Given the description of an element on the screen output the (x, y) to click on. 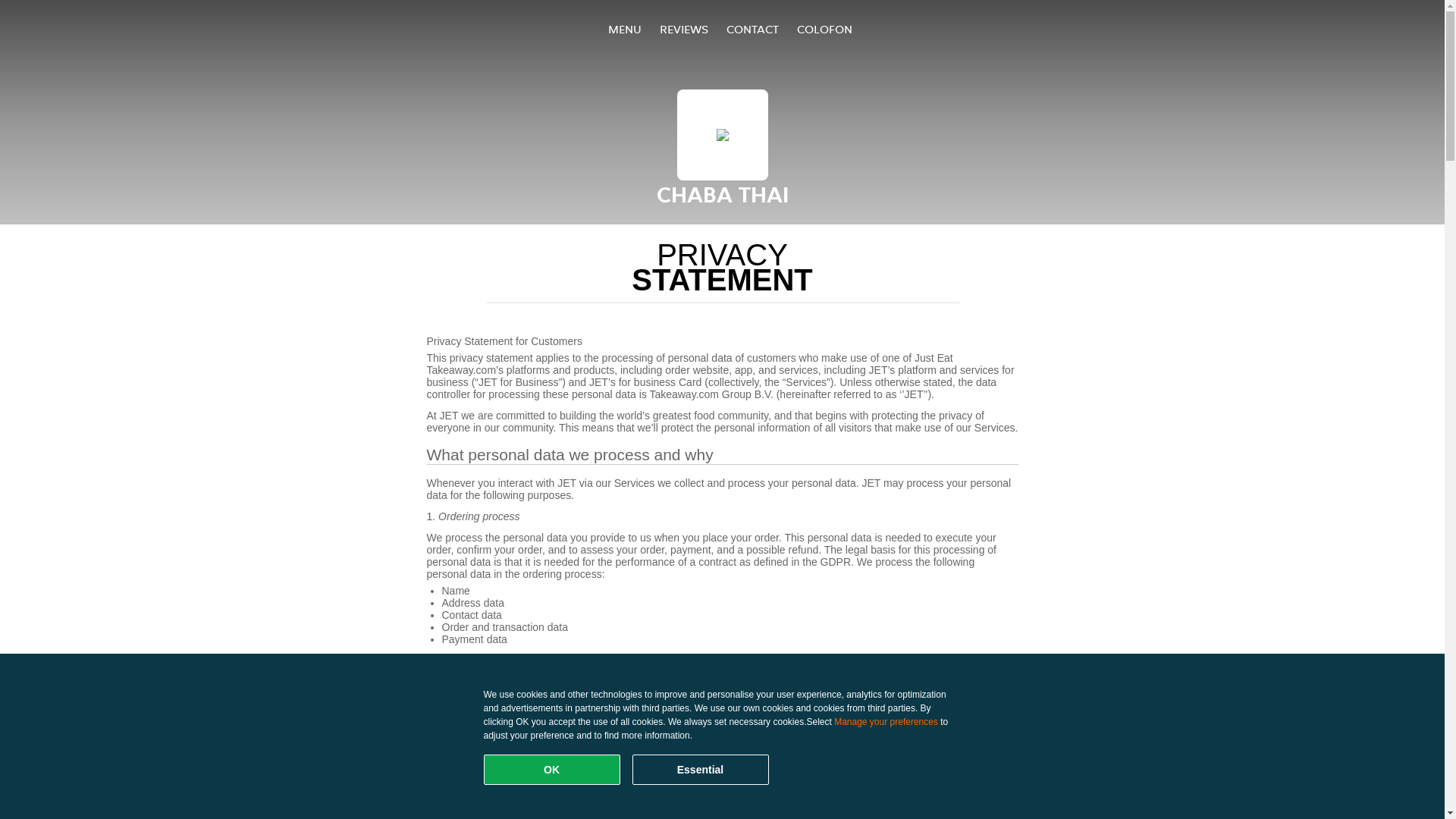
COLOFON Element type: text (823, 29)
Manage your preferences Element type: text (886, 721)
MENU Element type: text (624, 29)
REVIEWS Element type: text (683, 29)
Essential Element type: text (700, 769)
CONTACT Element type: text (752, 29)
OK Element type: text (551, 769)
privacy form Element type: text (489, 742)
